Given the description of an element on the screen output the (x, y) to click on. 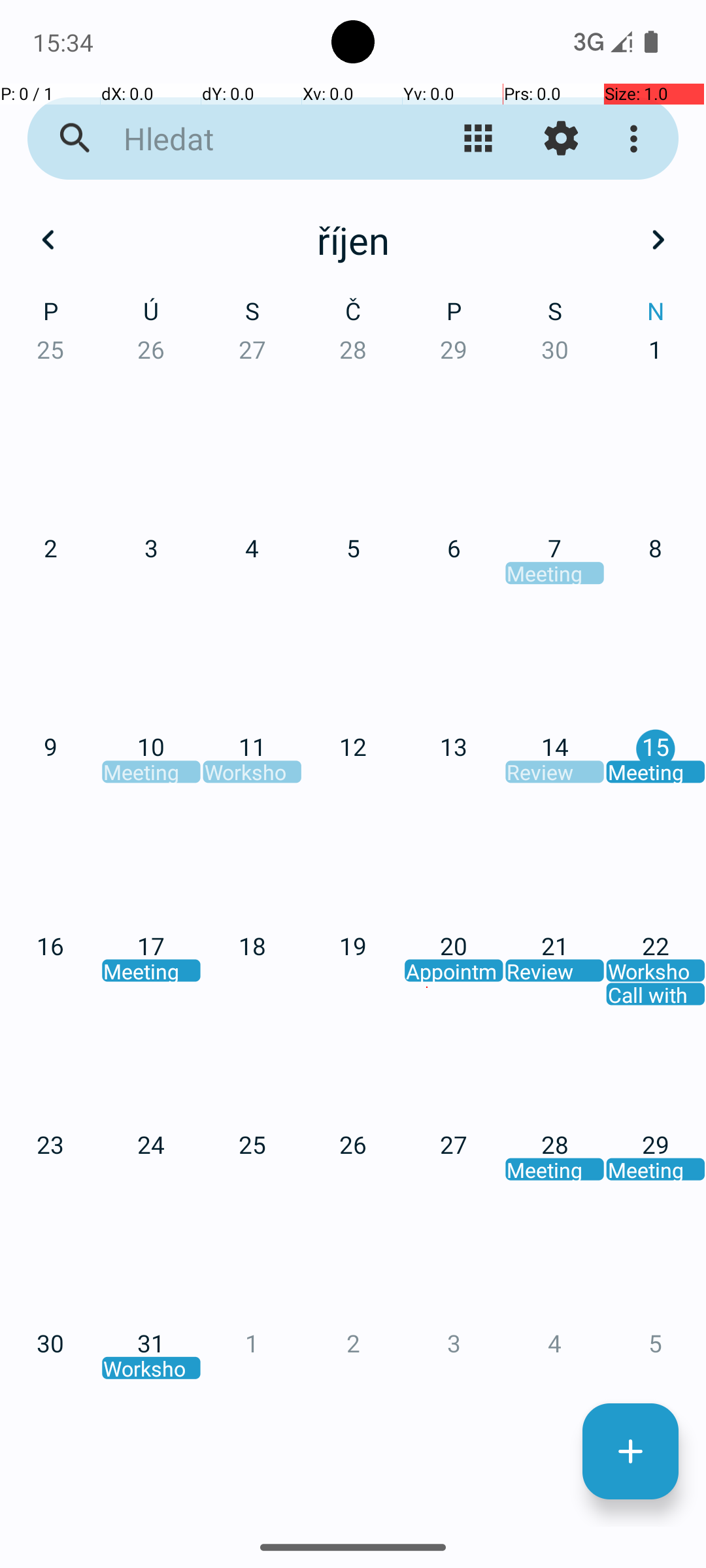
Hledat Element type: android.widget.EditText (252, 138)
Změnit zobrazení Element type: android.widget.Button (477, 138)
Nastavení Element type: android.widget.Button (560, 138)
Další možnosti Element type: android.widget.ImageView (636, 138)
Nová událost Element type: android.widget.ImageButton (630, 1451)
říjen Element type: android.widget.TextView (352, 239)
